Given the description of an element on the screen output the (x, y) to click on. 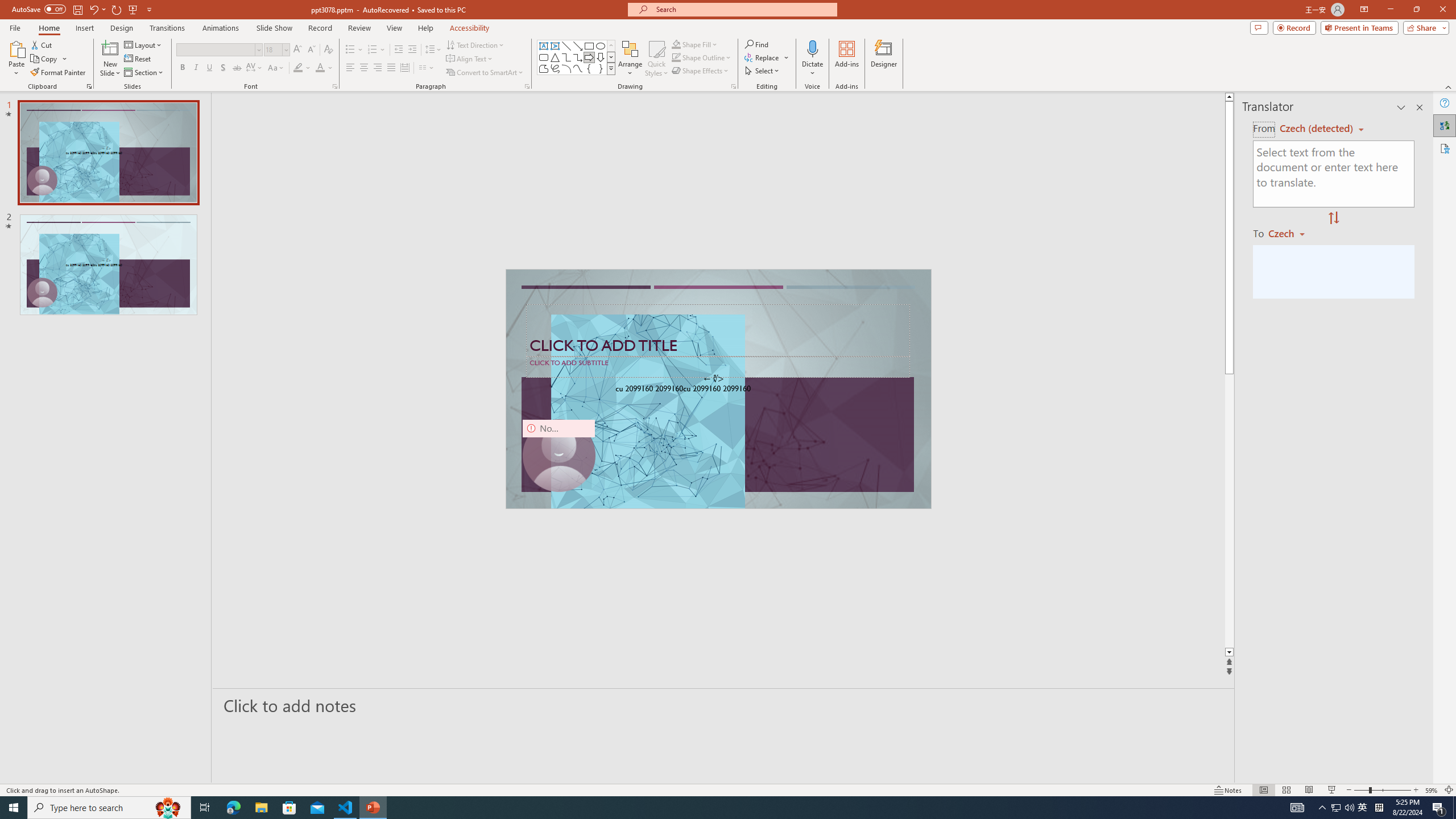
Shape Outline Green, Accent 1 (675, 56)
